Given the description of an element on the screen output the (x, y) to click on. 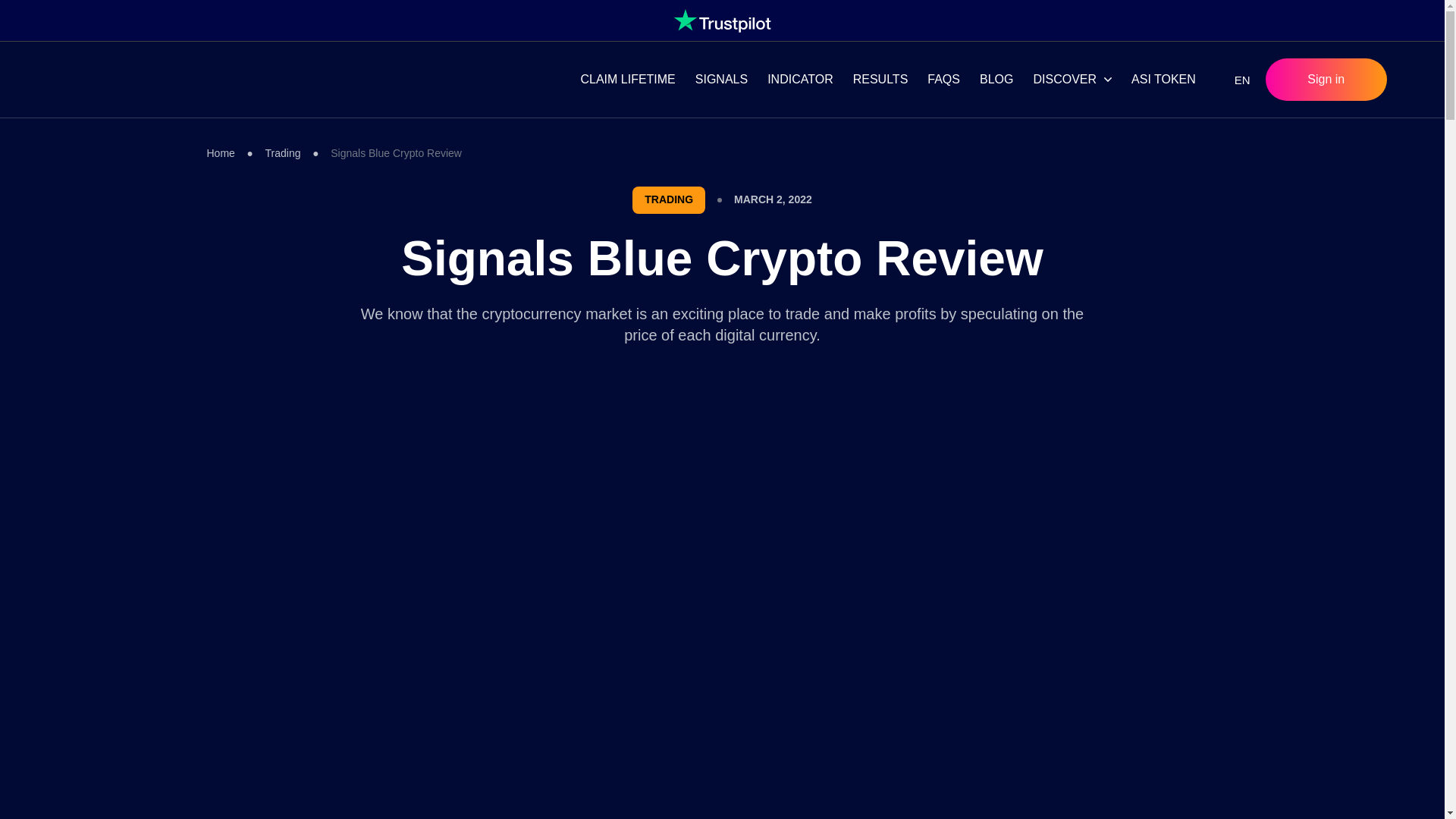
TRADING (667, 199)
FAQS (943, 79)
INDICATOR (799, 79)
SIGNALS (721, 79)
RESULTS (880, 79)
Sign in (1326, 79)
DISCOVER (1064, 79)
BLOG (995, 79)
ASI TOKEN (1162, 79)
Home (220, 153)
